Given the description of an element on the screen output the (x, y) to click on. 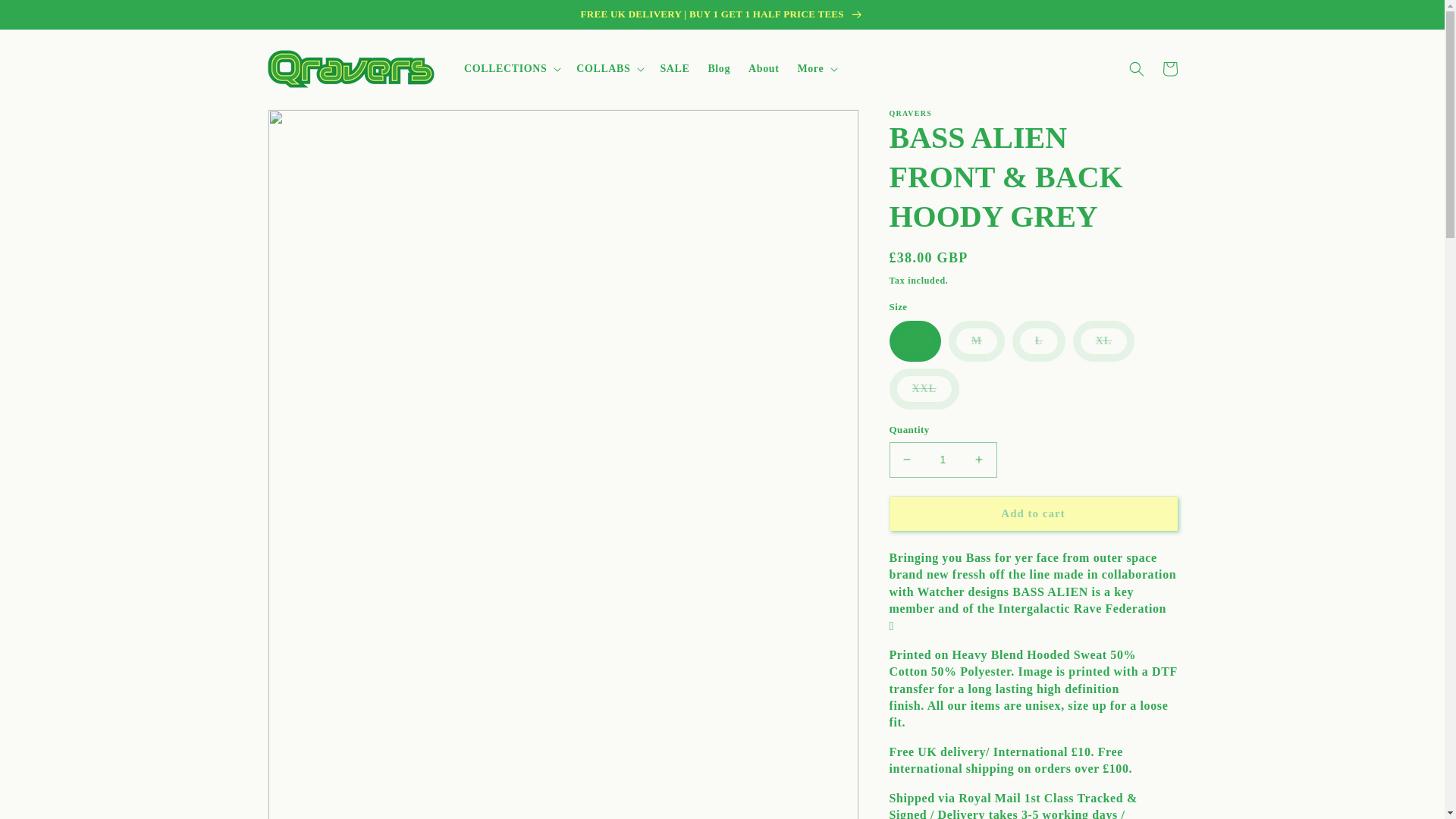
Skip to content (45, 16)
1 (941, 459)
